Given the description of an element on the screen output the (x, y) to click on. 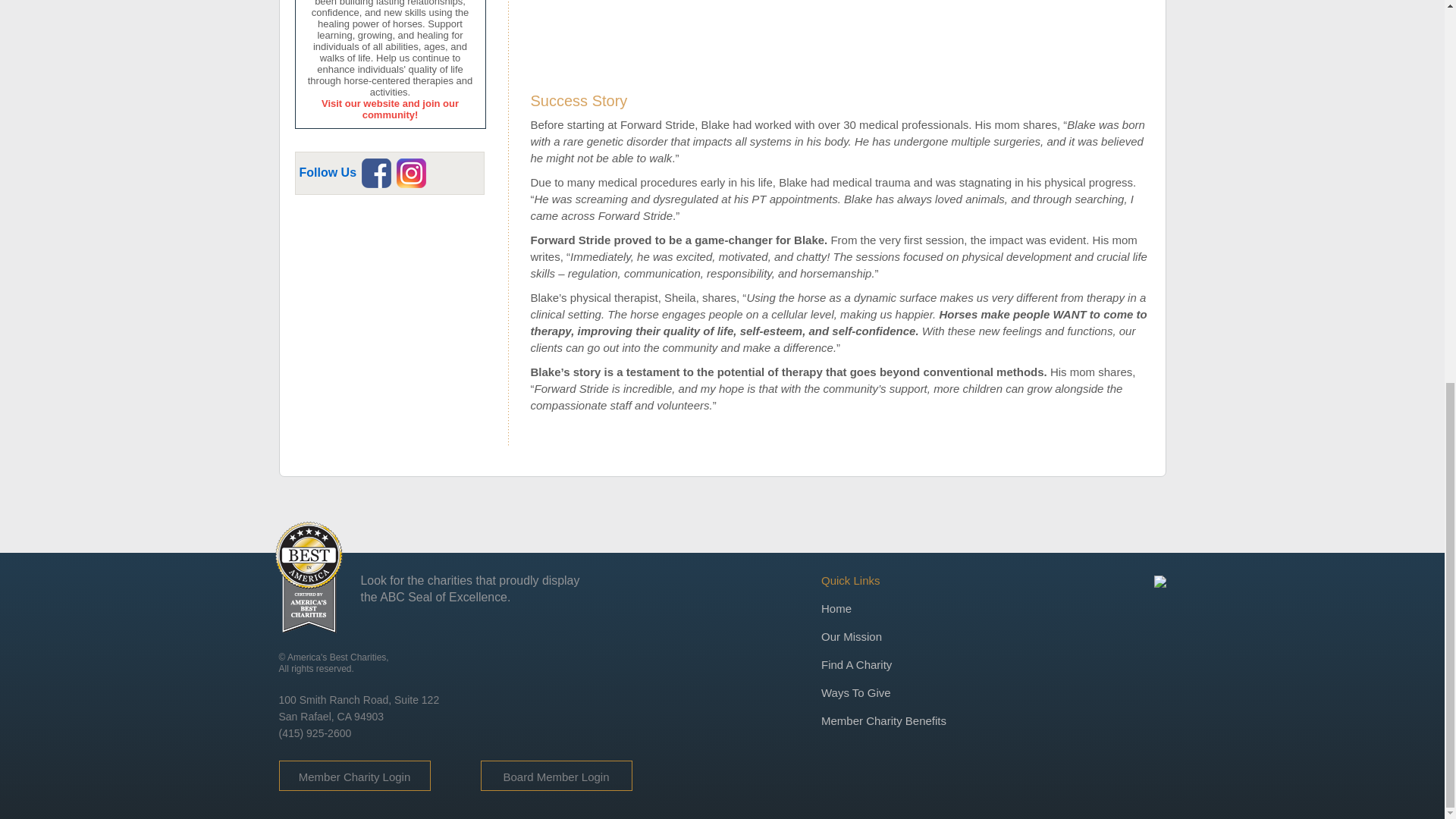
Member Charity Benefits (883, 720)
Find A Charity (856, 664)
Our Mission (851, 635)
Home (836, 608)
Member Charity Login (354, 776)
Ways To Give (856, 692)
Board Member Login (555, 776)
